Given the description of an element on the screen output the (x, y) to click on. 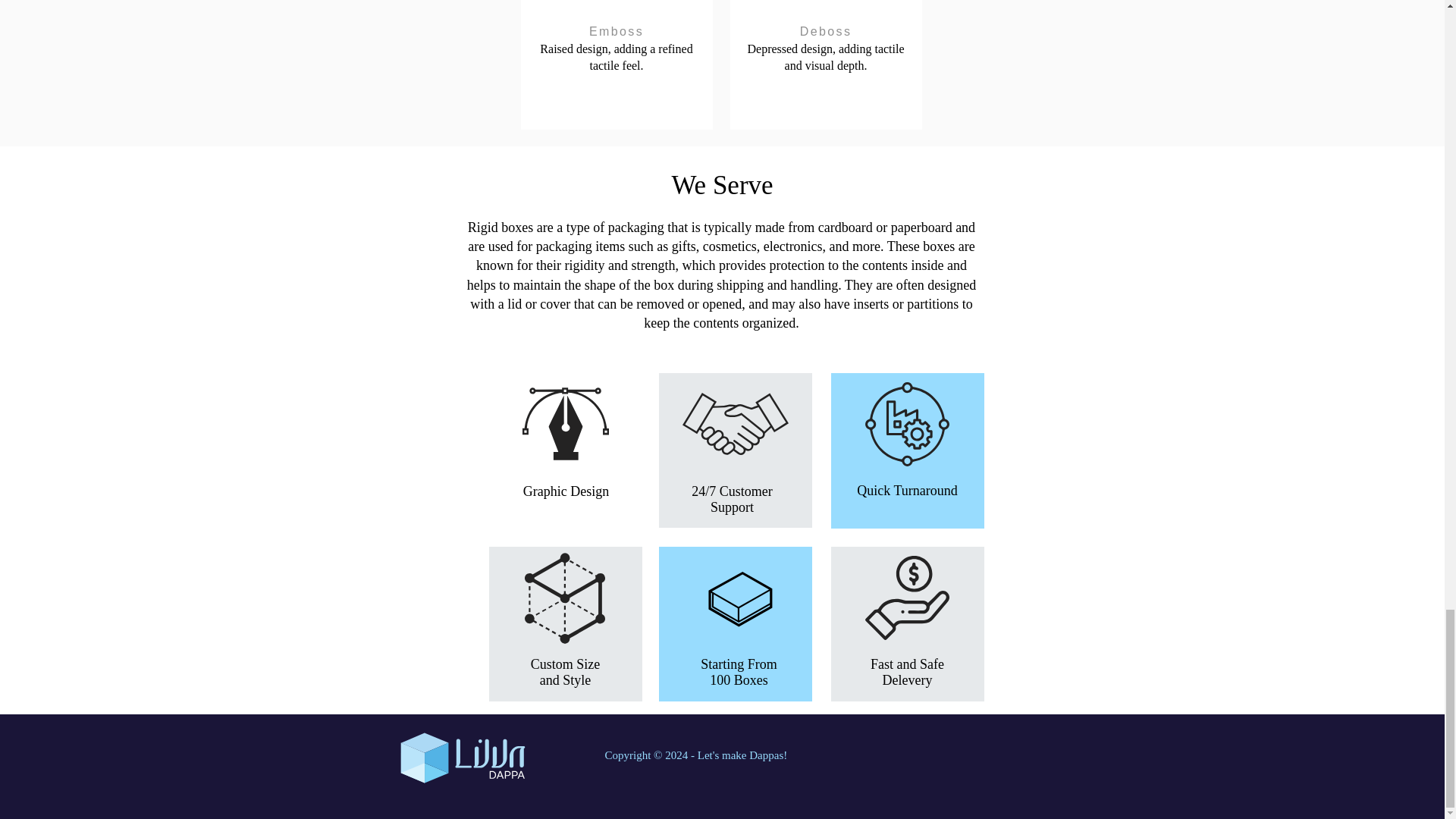
Emboss (617, 31)
Deboss (825, 31)
